Given the description of an element on the screen output the (x, y) to click on. 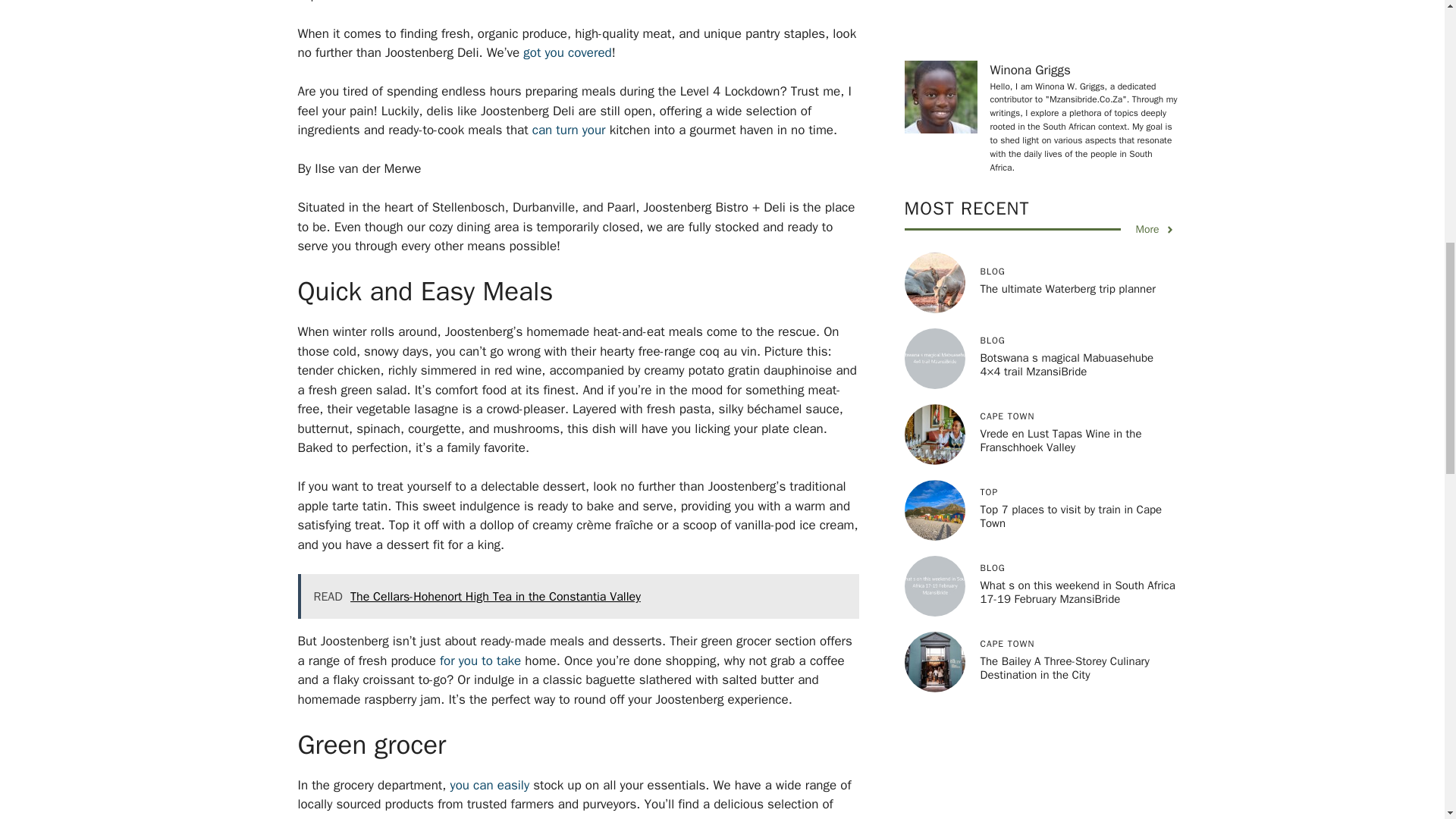
can turn your (568, 130)
for you to take (480, 660)
got you covered (566, 52)
READ  The Cellars-Hohenort High Tea in the Constantia Valley (578, 596)
Top 7 places to visit by train in Cape Town (1070, 318)
More (1154, 32)
The ultimate Waterberg trip planner (1067, 91)
Vrede en Lust Tapas Wine in the Franschhoek Valley (1060, 243)
you can easily (489, 785)
The Bailey A Three-Storey Culinary Destination in the City (1063, 470)
